Given the description of an element on the screen output the (x, y) to click on. 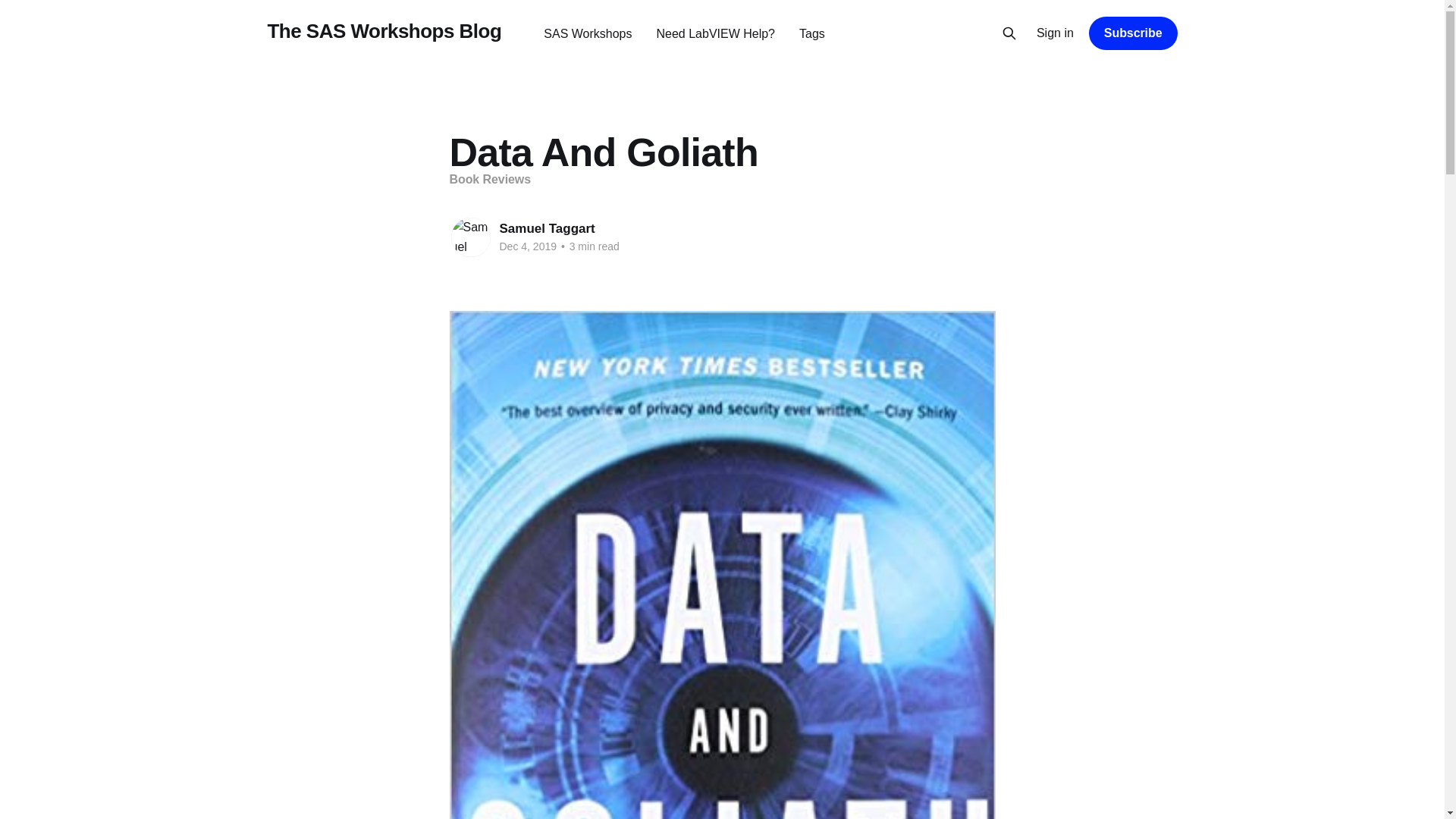
The SAS Workshops Blog (383, 31)
SAS Workshops (587, 33)
Subscribe (1133, 32)
Sign in (1055, 33)
Book Reviews (489, 178)
Tags (812, 33)
Book Reviews (489, 178)
Samuel Taggart (546, 228)
Need LabVIEW Help? (715, 33)
